Given the description of an element on the screen output the (x, y) to click on. 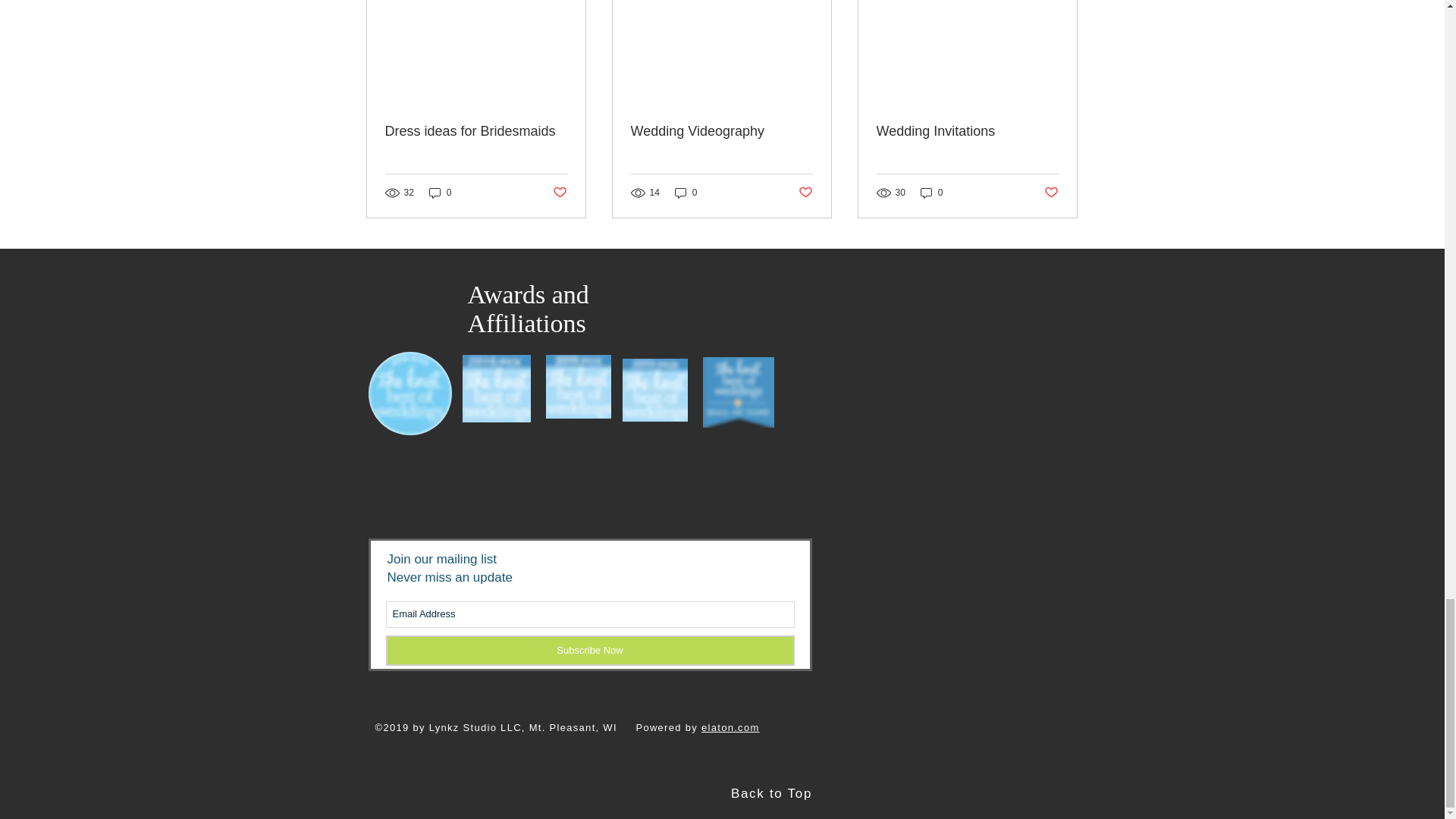
Post not marked as liked (804, 192)
Dress ideas for Bridesmaids (476, 131)
0 (685, 192)
Post not marked as liked (558, 192)
0 (931, 192)
Wedding Videography (721, 131)
0 (440, 192)
Post not marked as liked (1050, 192)
Wedding Invitations (967, 131)
